Given the description of an element on the screen output the (x, y) to click on. 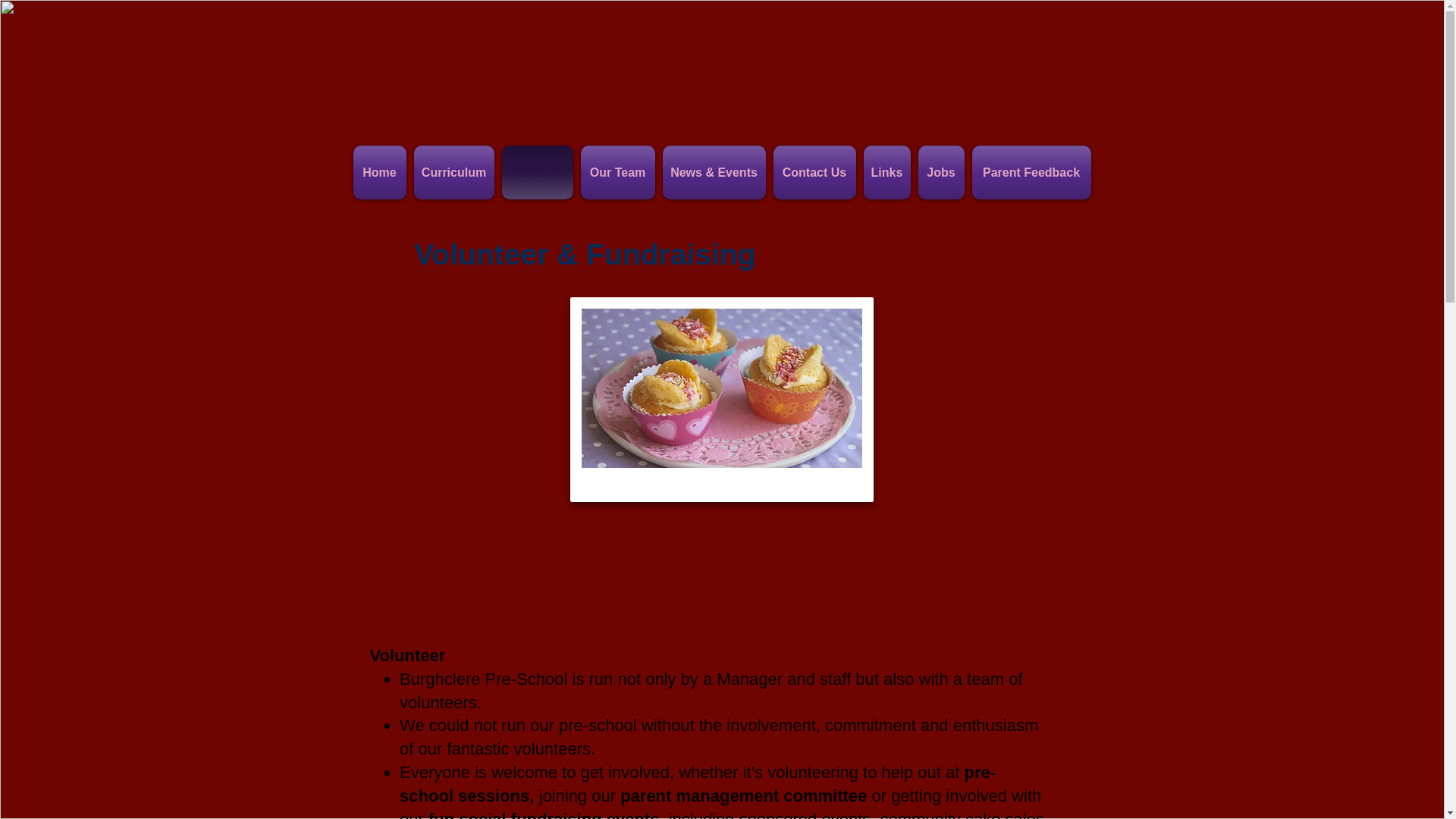
Links (887, 172)
butterflyCakes.jpg (721, 399)
Our Team (617, 172)
Parent Feedback (1029, 172)
Curriculum (453, 172)
About Us (536, 172)
Jobs (941, 172)
Home (381, 172)
Contact Us (813, 172)
